Given the description of an element on the screen output the (x, y) to click on. 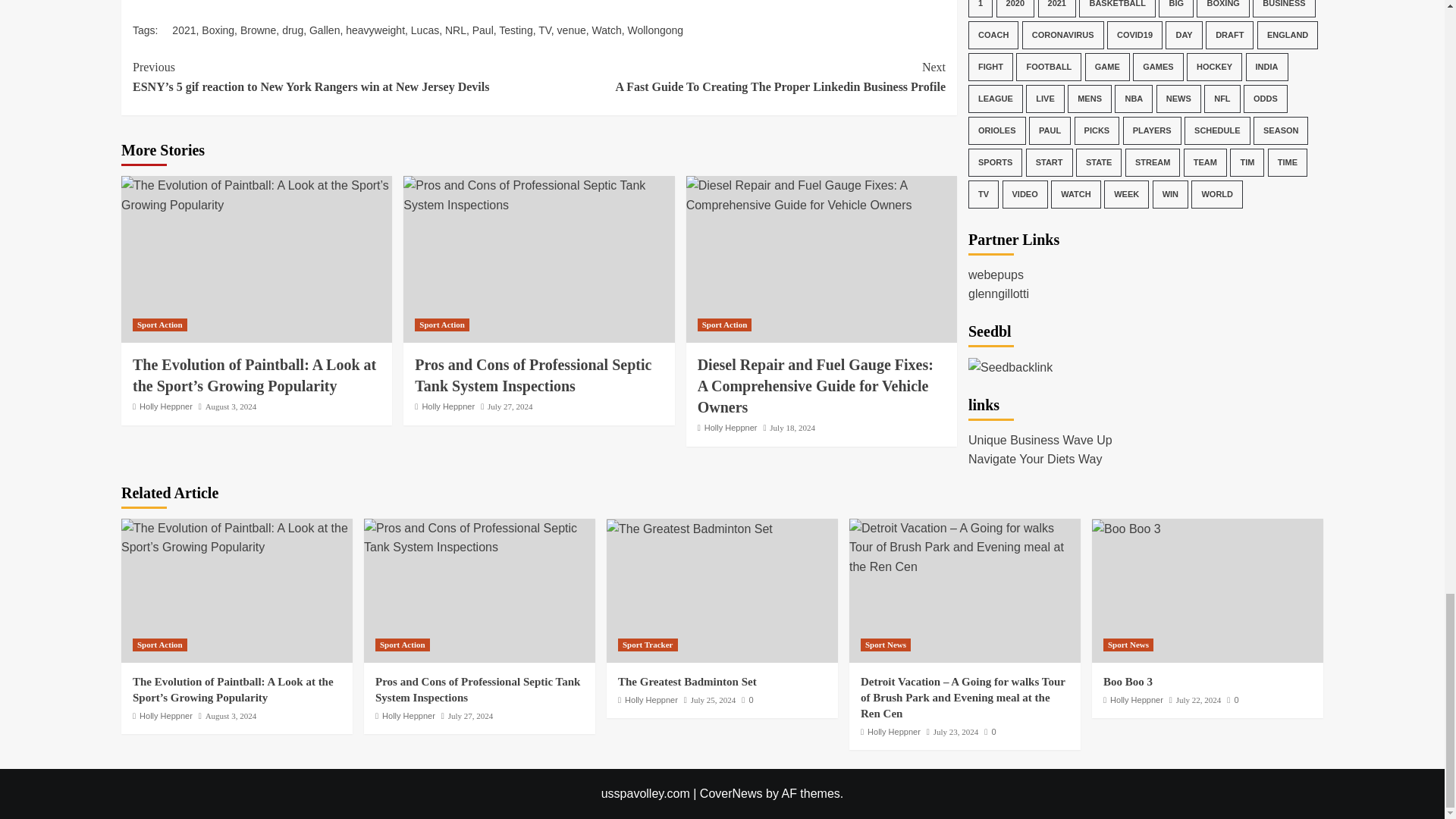
NRL (455, 30)
TV (544, 30)
Gallen (323, 30)
Paul (482, 30)
Browne (258, 30)
Testing (515, 30)
Boxing (218, 30)
drug (292, 30)
Lucas (424, 30)
Tags: (151, 30)
